Given the description of an element on the screen output the (x, y) to click on. 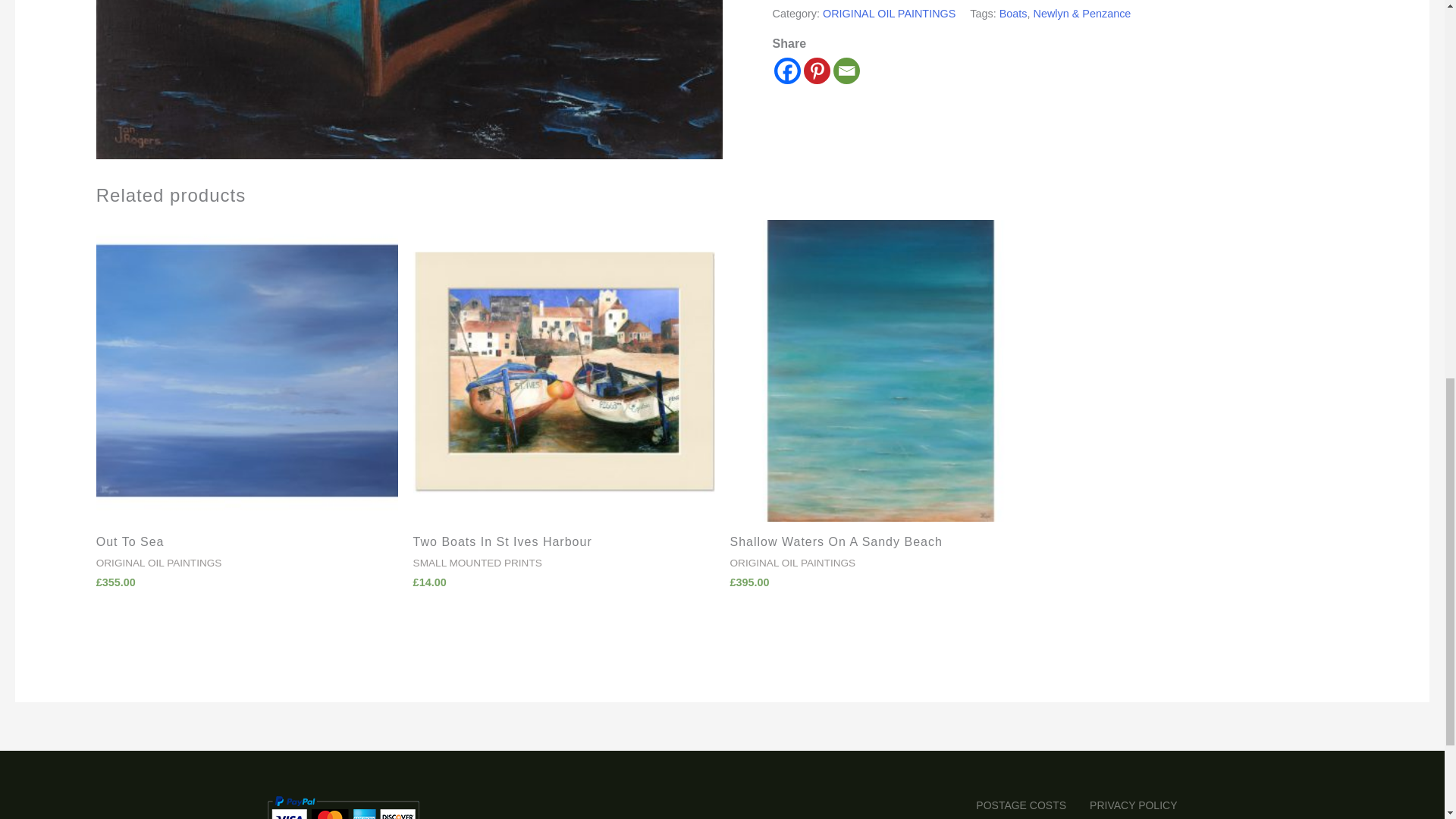
Facebook (787, 70)
ORIGINAL OIL PAINTINGS (888, 13)
Out To Sea (246, 545)
Pinterest (816, 70)
Two Boats In St Ives Harbour (563, 545)
Email (846, 70)
Shallow Waters On A Sandy Beach (879, 545)
Boats (1012, 13)
Original oil painting by Jan Rogers. (409, 79)
